Given the description of an element on the screen output the (x, y) to click on. 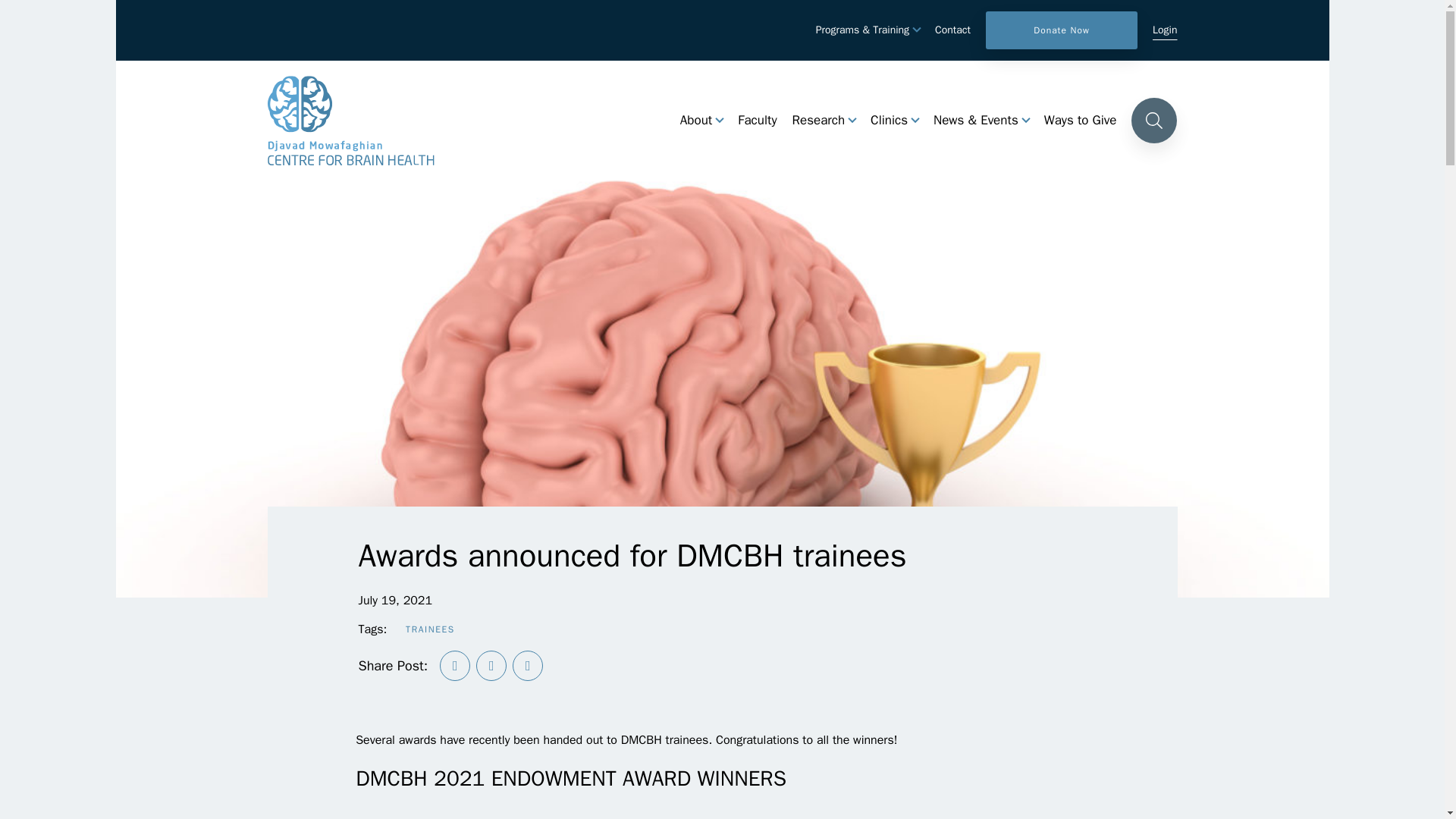
Contact (952, 30)
Faculty (757, 120)
Search (1153, 120)
Research (818, 120)
Donate Now (1061, 30)
About (695, 120)
Clinics (888, 120)
Login (1164, 30)
